Given the description of an element on the screen output the (x, y) to click on. 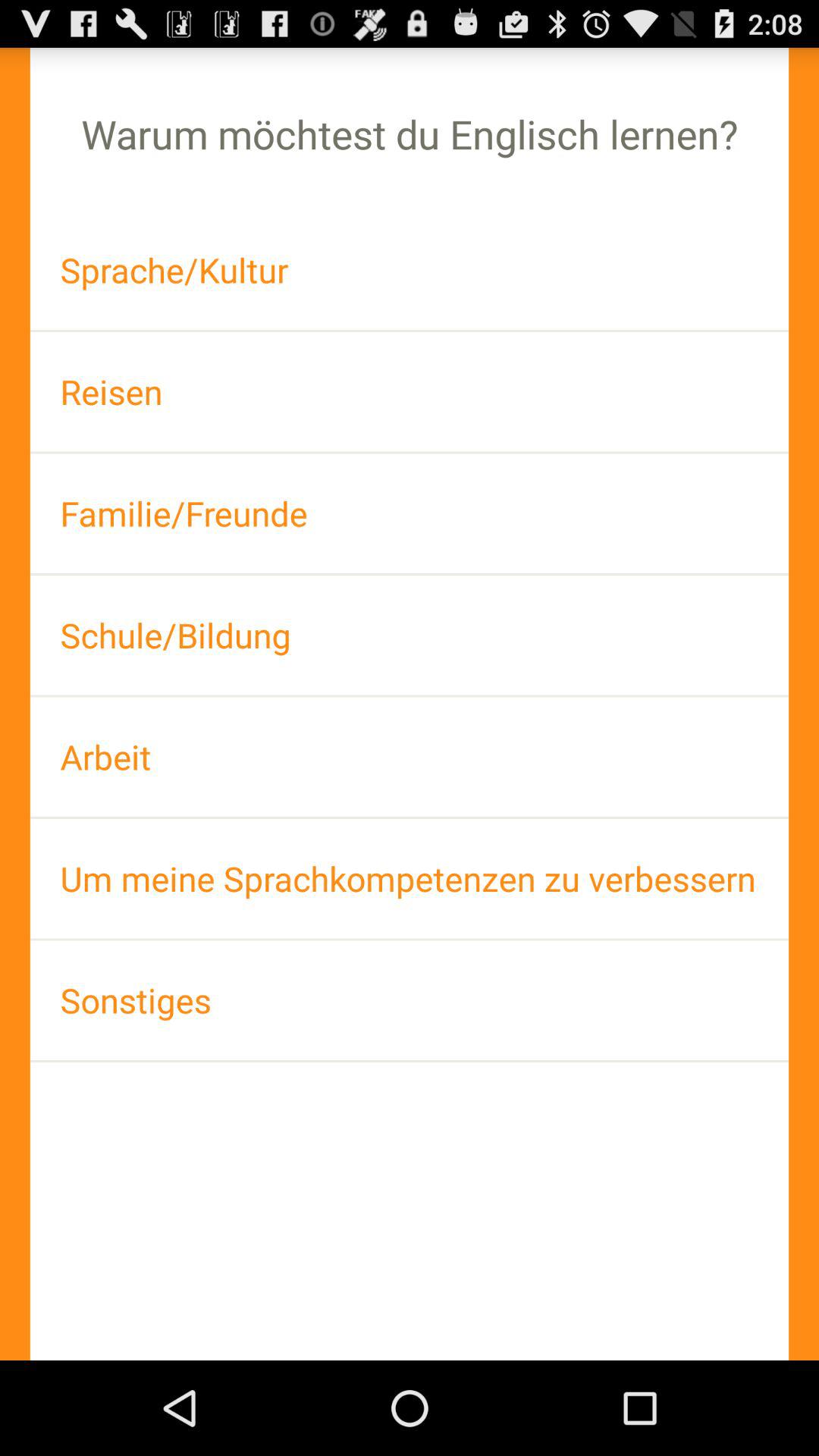
tap the sprache/kultur (409, 269)
